Given the description of an element on the screen output the (x, y) to click on. 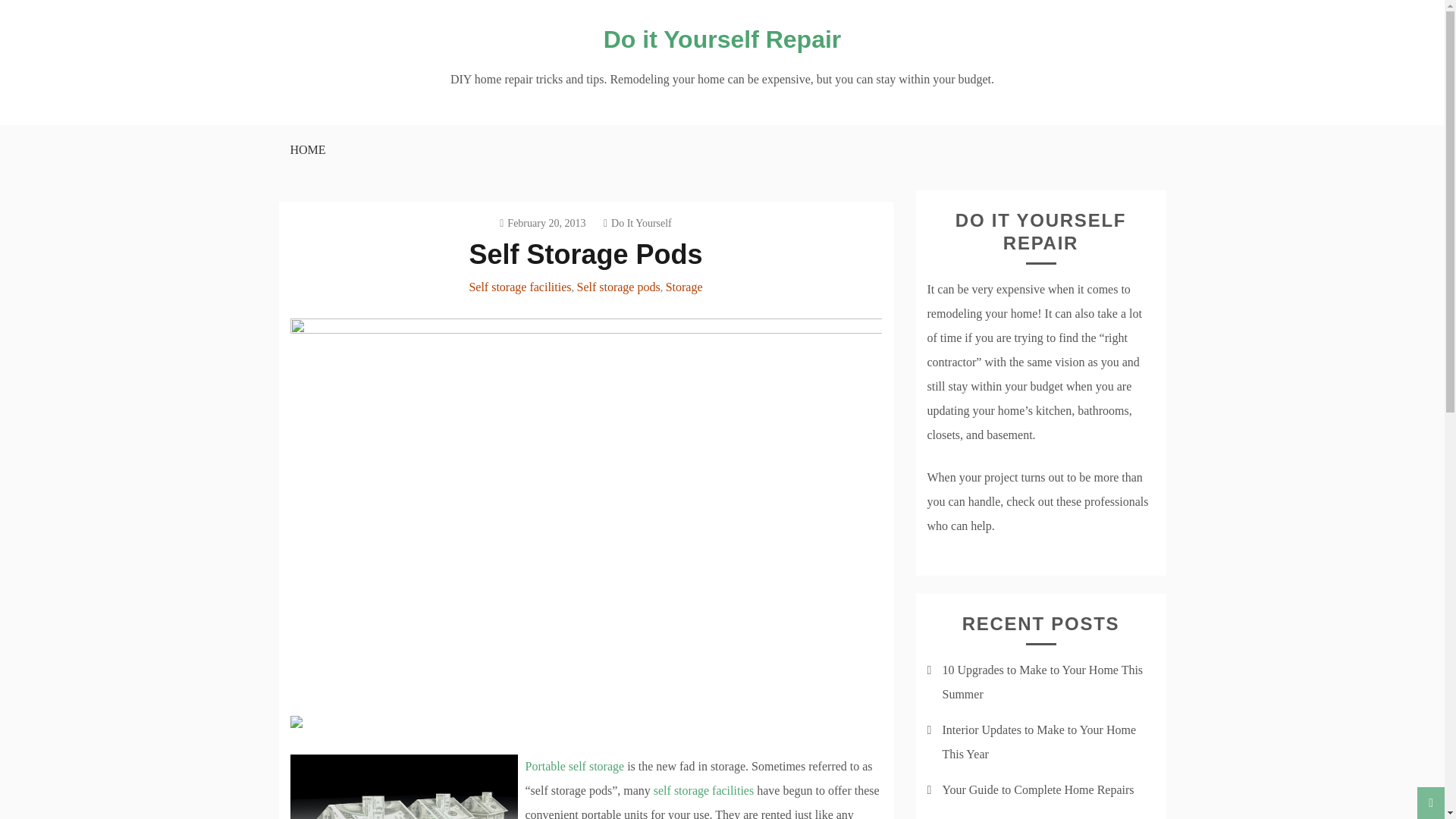
Portable self storage (574, 766)
Your Guide to Complete Home Repairs (1038, 789)
10 Upgrades to Make to Your Home This Summer (1042, 682)
HOME (306, 150)
Do It Yourself (637, 223)
Self storage facilities (519, 286)
Storage (684, 286)
self storage facilities (703, 789)
Portable self storage (574, 766)
February 20, 2013 (542, 223)
Do it Yourself Repair (722, 39)
Self storage pods (617, 286)
For more information on Self storage (703, 789)
Interior Updates to Make to Your Home This Year (1038, 741)
